Given the description of an element on the screen output the (x, y) to click on. 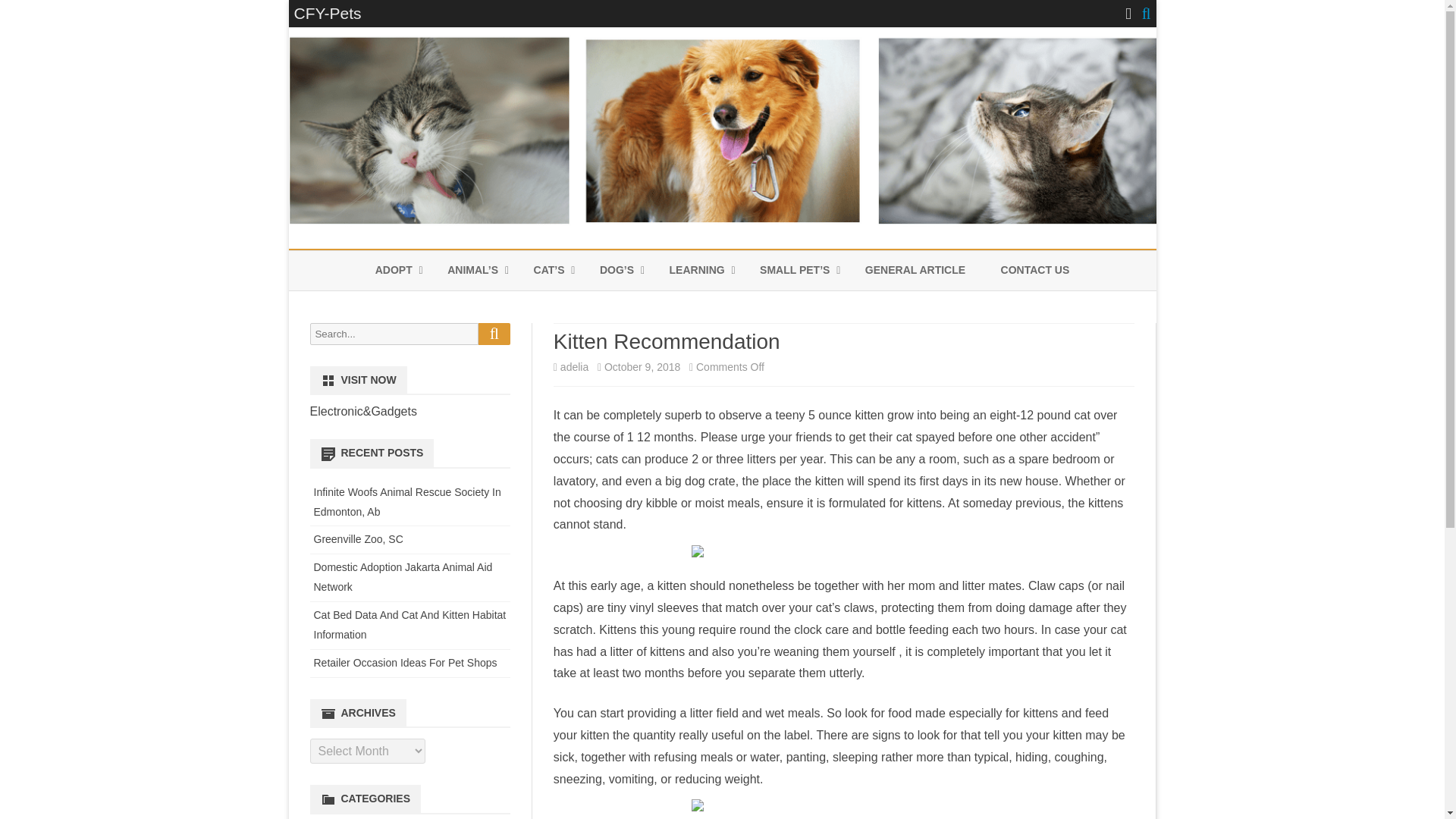
ADOPT A DOG (451, 305)
Search for: (392, 333)
ADOPT (393, 270)
